Given the description of an element on the screen output the (x, y) to click on. 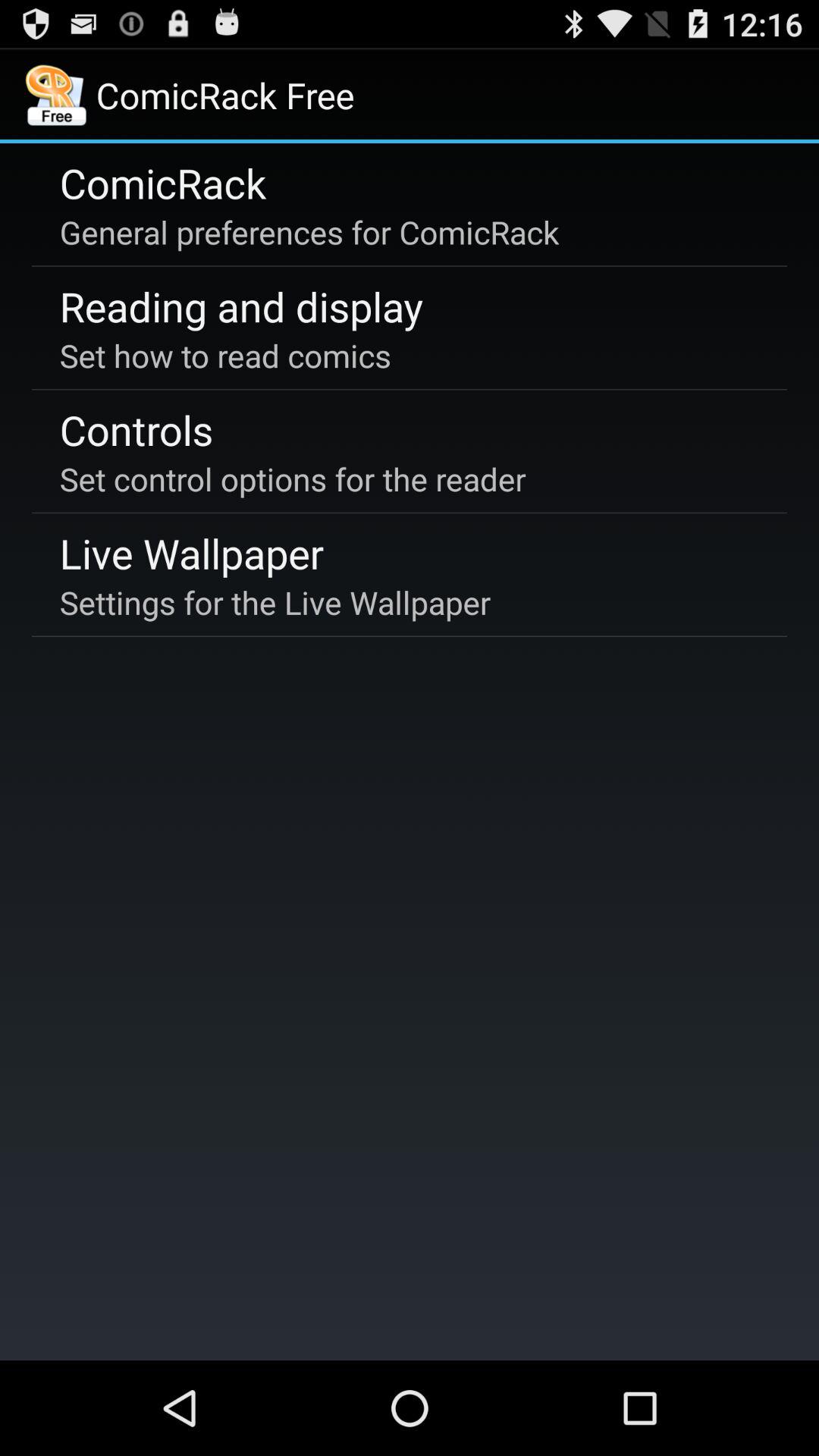
click set how to item (225, 355)
